Given the description of an element on the screen output the (x, y) to click on. 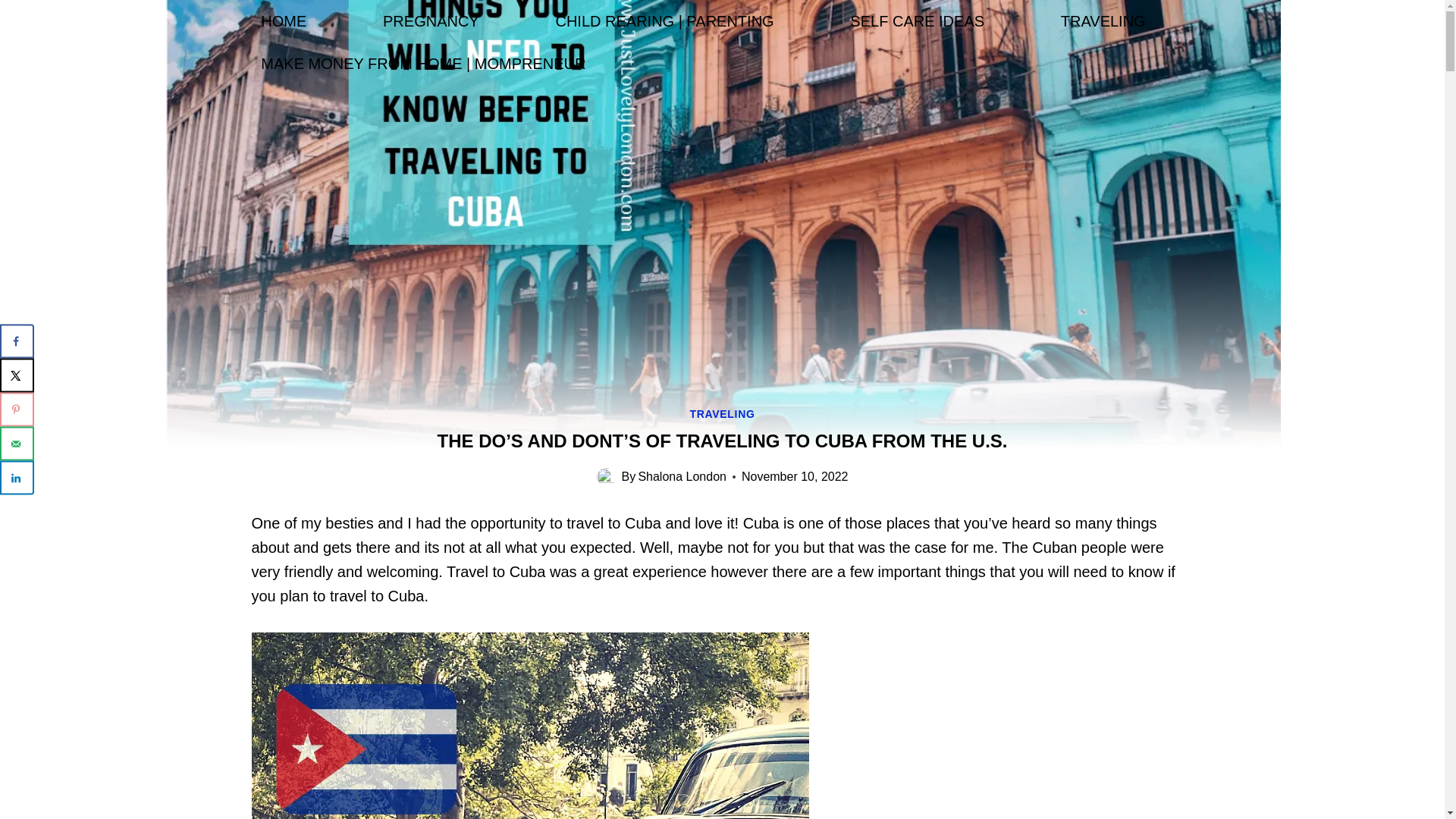
TRAVELING (721, 413)
HOME (284, 21)
TRAVELING (1102, 21)
PREGNANCY (429, 21)
Shalona London (681, 476)
SELF CARE IDEAS (917, 21)
